Given the description of an element on the screen output the (x, y) to click on. 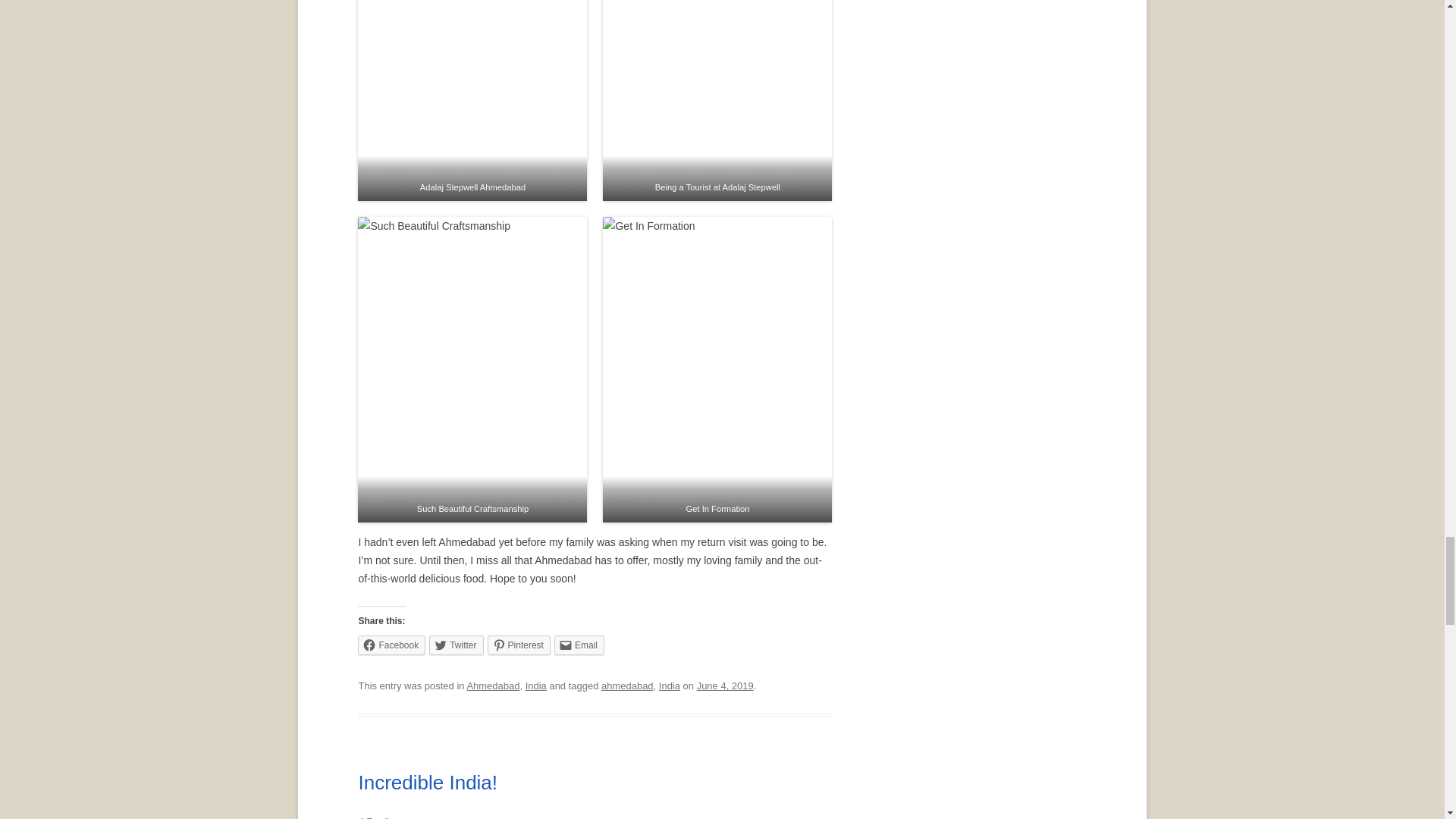
Click to share on Twitter (456, 645)
2:26 PM (725, 685)
Click to share on Pinterest (518, 645)
Click to share on Facebook (391, 645)
Click to email a link to a friend (579, 645)
